Given the description of an element on the screen output the (x, y) to click on. 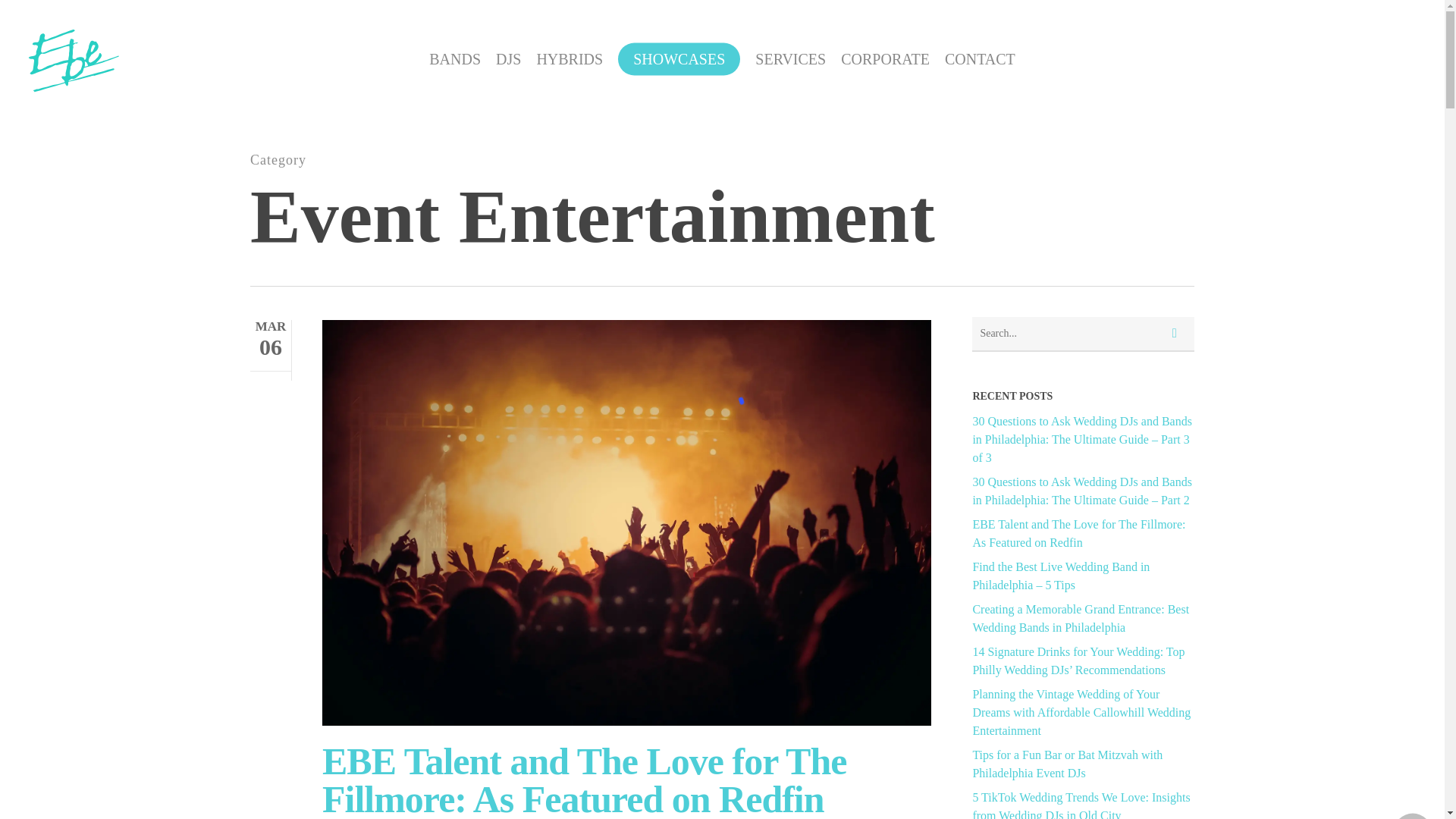
DJS (508, 58)
SERVICES (790, 58)
SHOWCASES (678, 58)
HYBRIDS (568, 58)
BANDS (454, 58)
CORPORATE (885, 58)
Search for: (1082, 334)
